Given the description of an element on the screen output the (x, y) to click on. 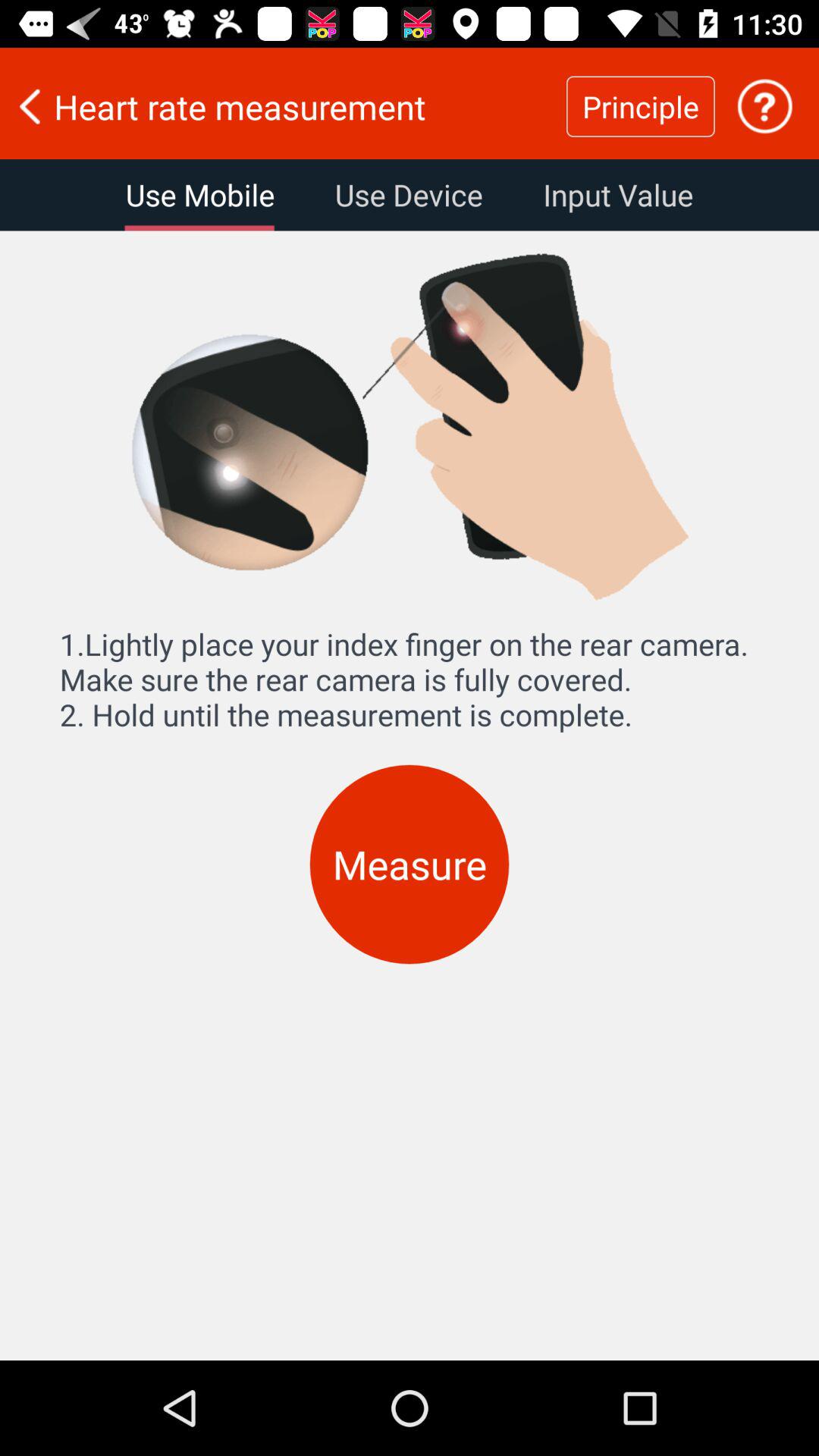
choose icon to the right of the heart rate measurement icon (640, 106)
